Given the description of an element on the screen output the (x, y) to click on. 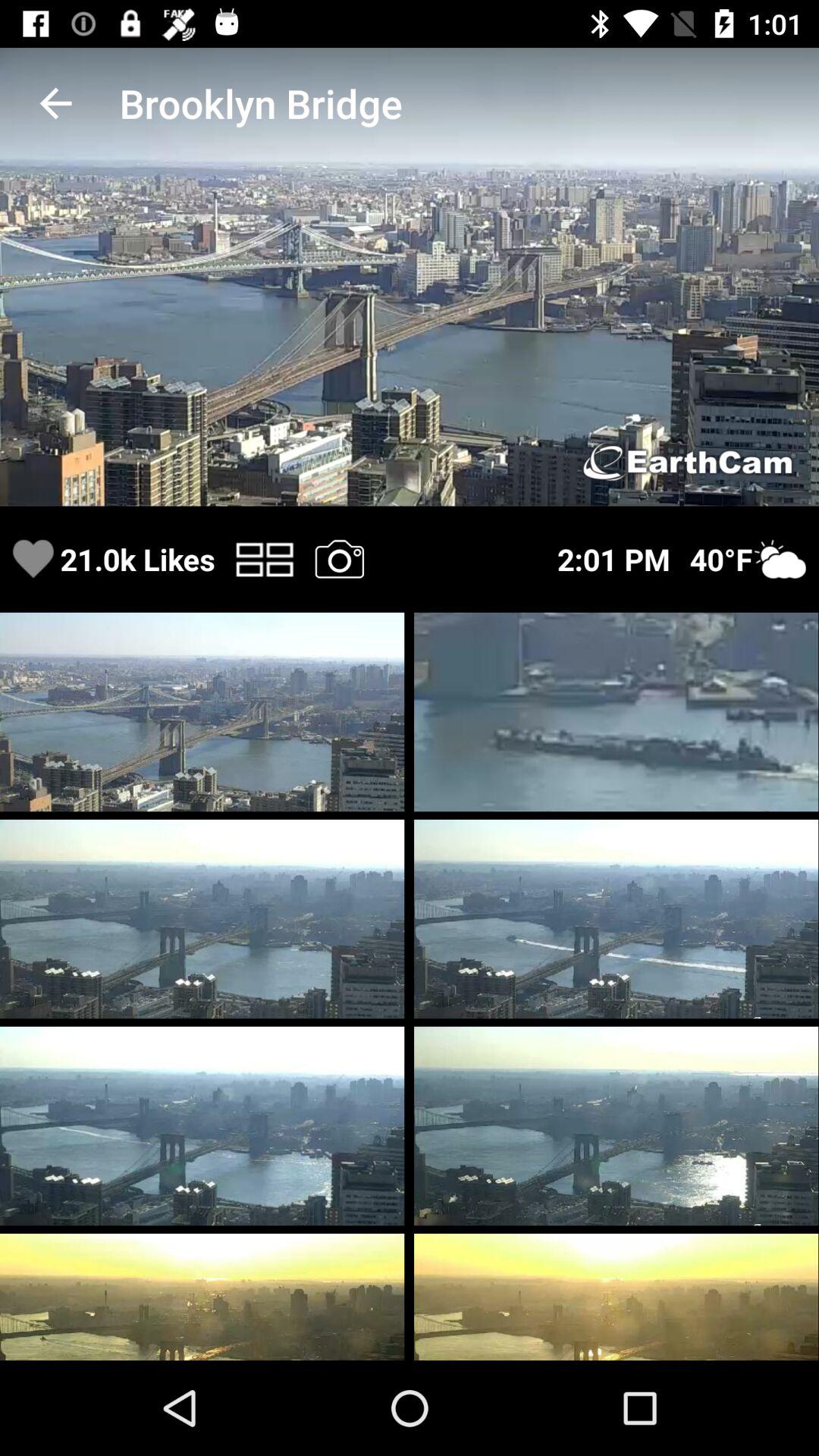
camera option (339, 558)
